Given the description of an element on the screen output the (x, y) to click on. 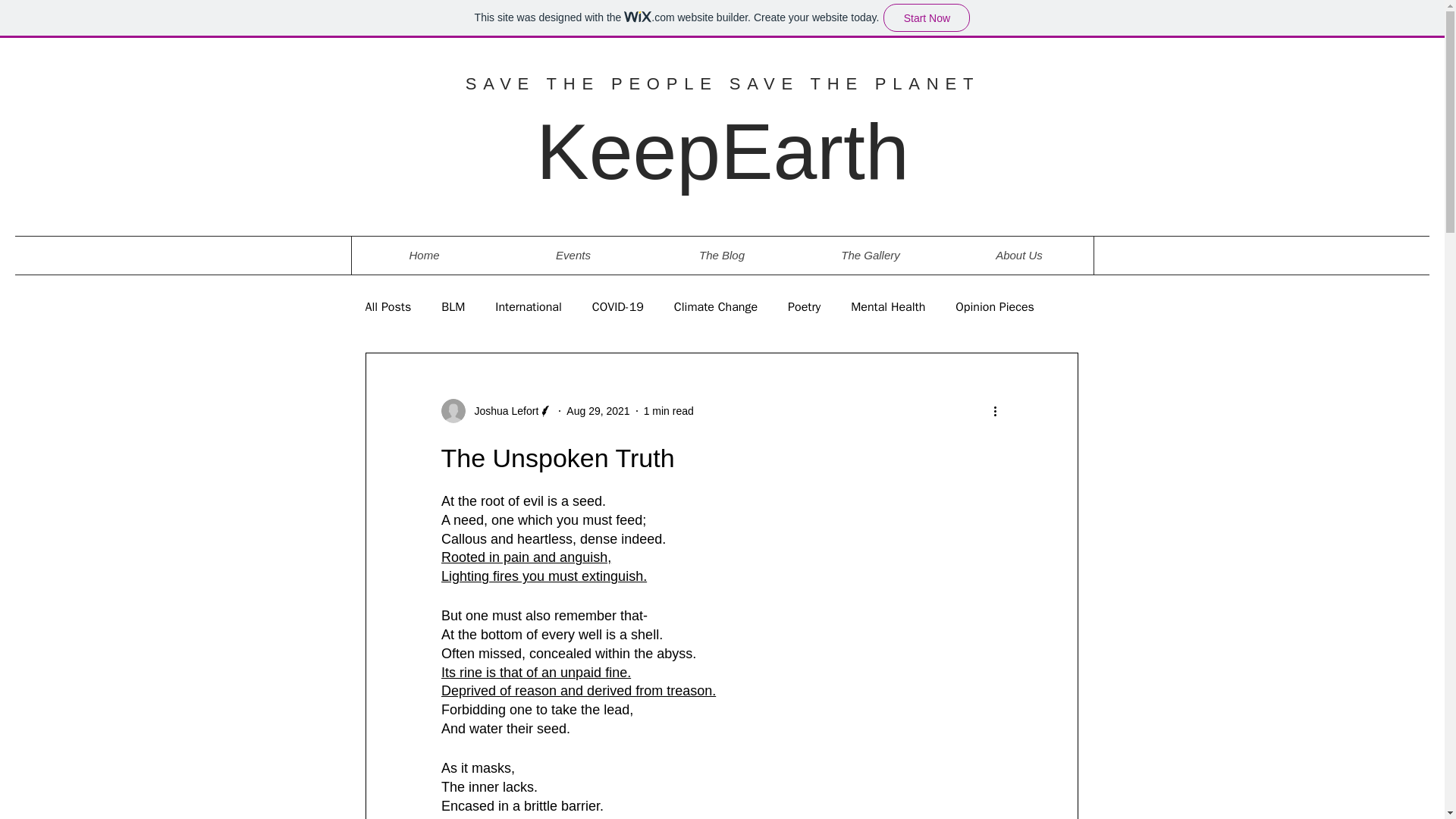
International (528, 306)
BLM (452, 306)
COVID-19 (617, 306)
Opinion Pieces (994, 306)
Joshua Lefort (501, 411)
Climate Change (715, 306)
The Gallery (870, 255)
About Us (1018, 255)
Events (573, 255)
The Blog (721, 255)
Poetry (804, 306)
Mental Health (887, 306)
KeepEarth (721, 151)
Aug 29, 2021 (597, 410)
Home (424, 255)
